Given the description of an element on the screen output the (x, y) to click on. 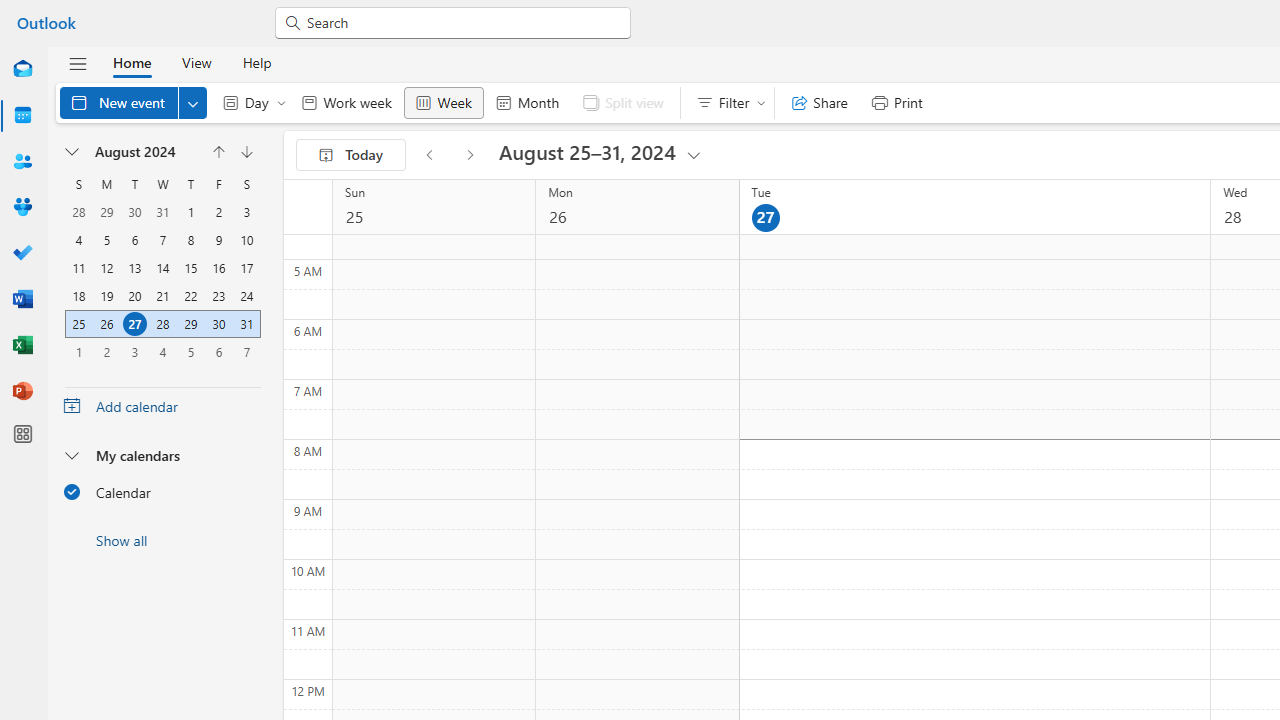
View (196, 61)
Word (22, 299)
29, July, 2024 (106, 211)
Share (819, 102)
Show all (162, 540)
1, August, 2024 (190, 212)
Thursday (190, 183)
6, August, 2024 (134, 240)
23, August, 2024 (218, 295)
27, August, 2024 (134, 323)
4, September, 2024 (163, 351)
Week (443, 102)
Work week (346, 102)
3, September, 2024 (134, 351)
20, August, 2024 (134, 296)
